Given the description of an element on the screen output the (x, y) to click on. 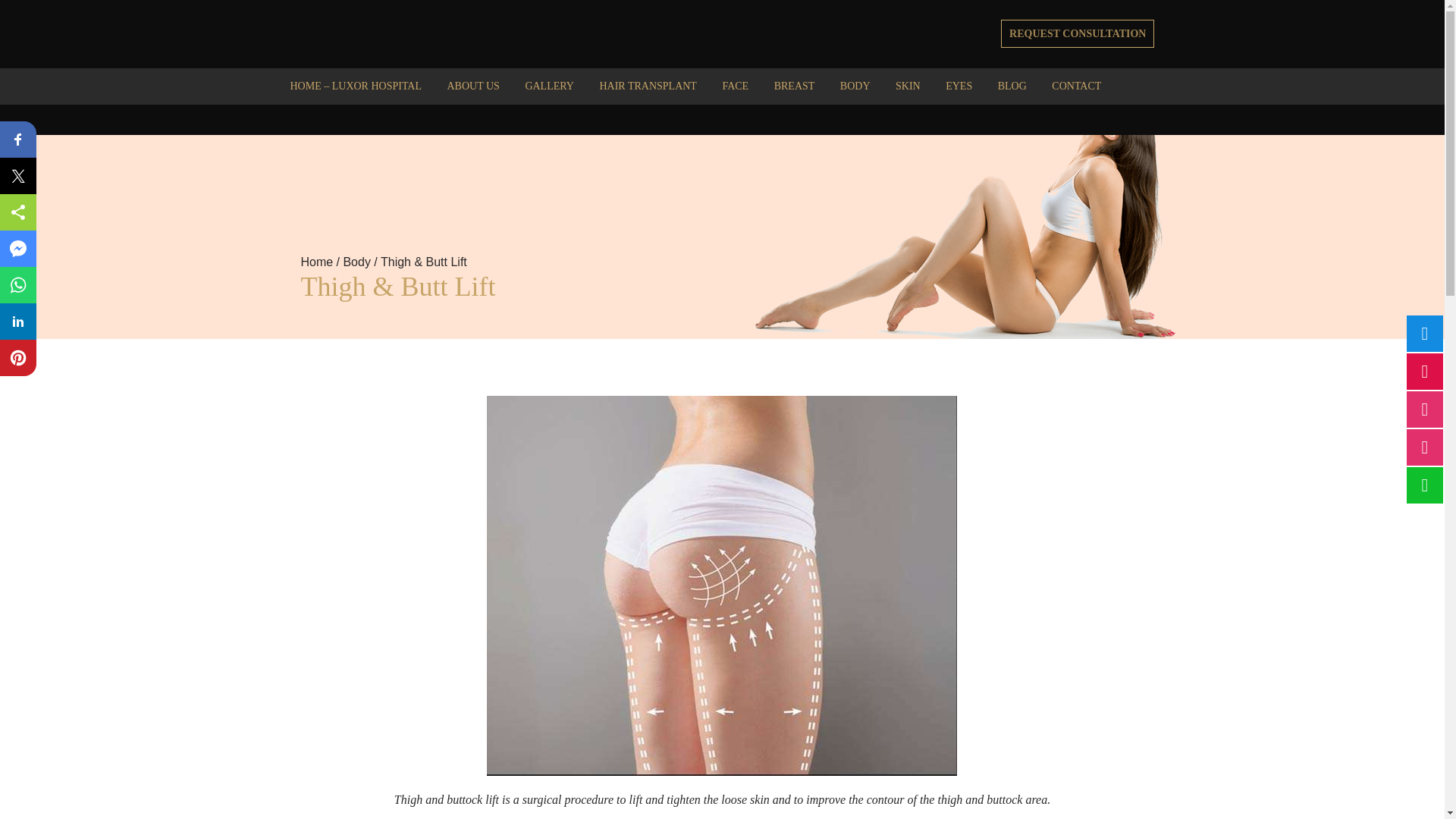
GALLERY (548, 91)
HAIR TRANSPLANT (646, 91)
REQUEST CONSULTATION (1077, 33)
BREAST (794, 91)
BODY (855, 91)
ABOUT US (472, 91)
FACE (735, 91)
